Given the description of an element on the screen output the (x, y) to click on. 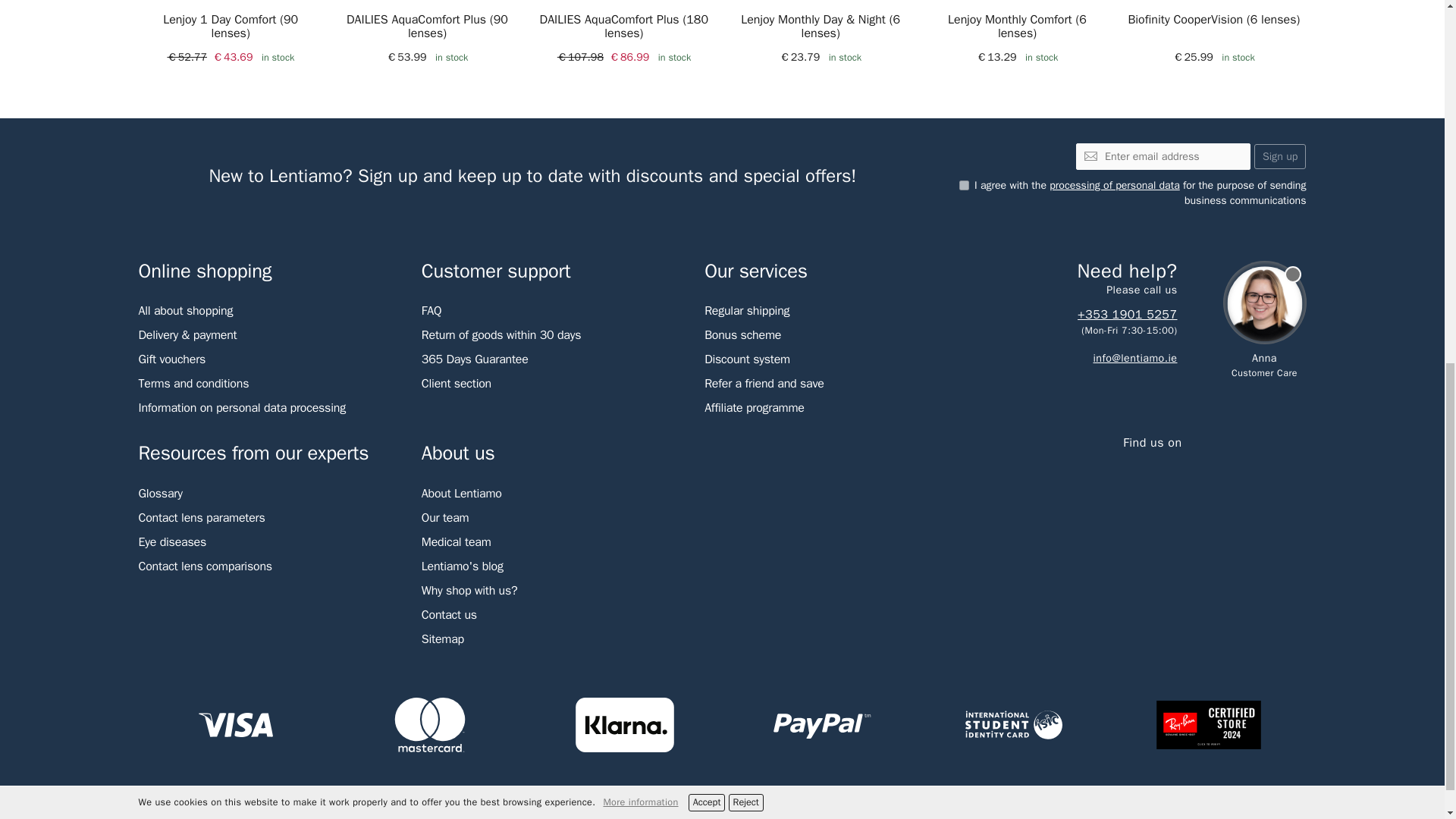
1 (964, 185)
Accept (706, 126)
More information (640, 125)
Reject (745, 126)
